Given the description of an element on the screen output the (x, y) to click on. 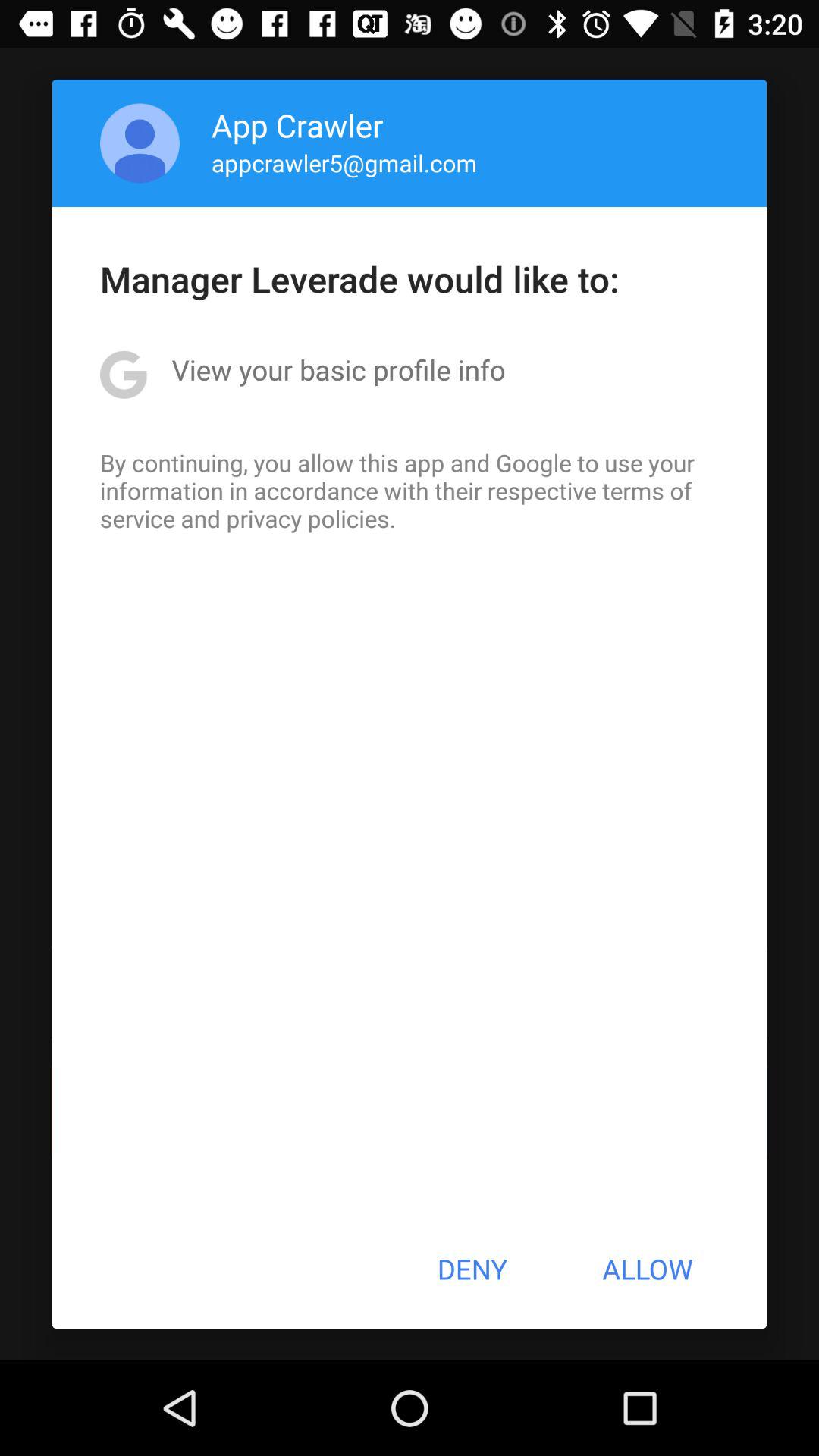
launch appcrawler5@gmail.com app (344, 162)
